Given the description of an element on the screen output the (x, y) to click on. 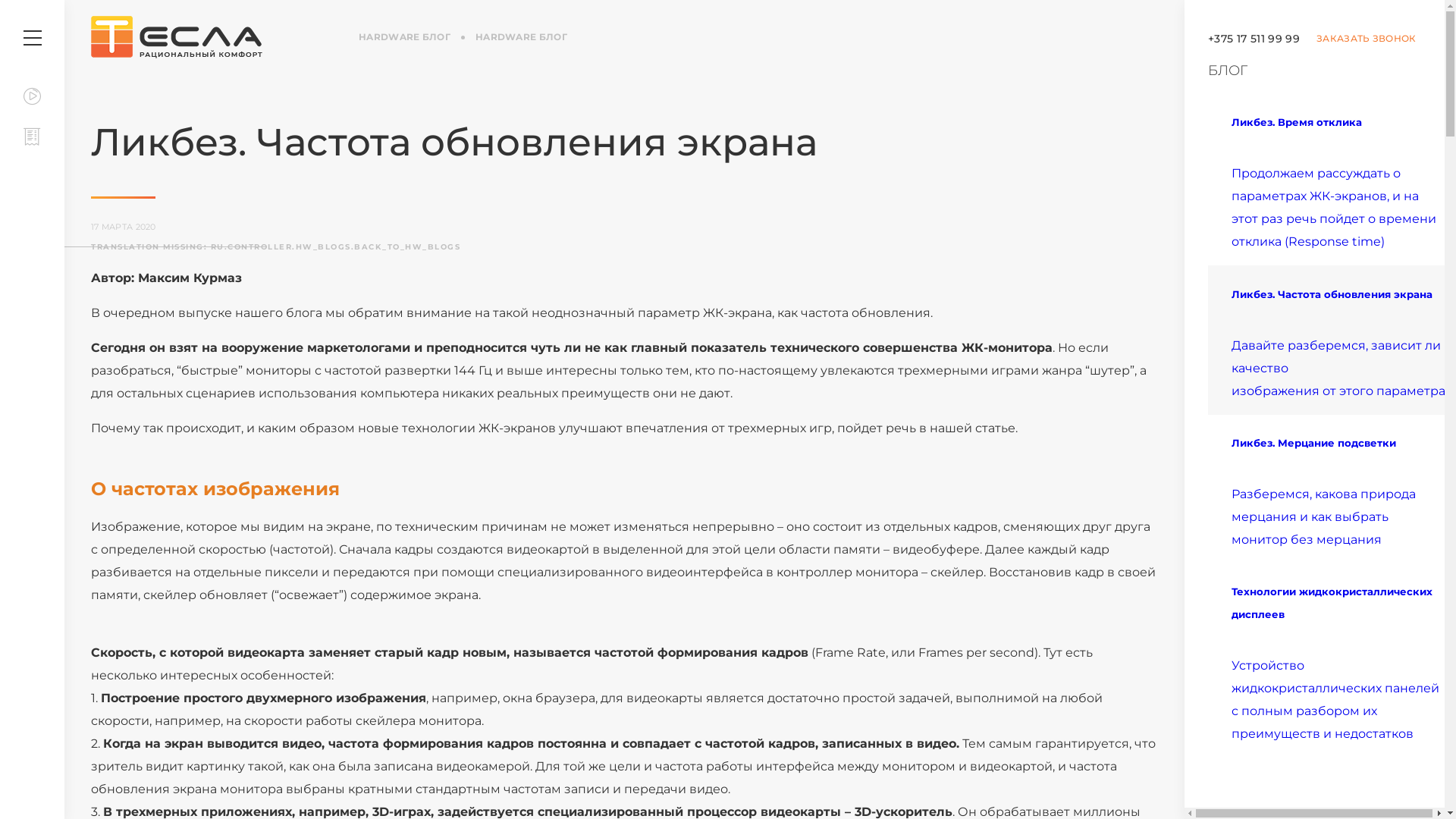
+375 17 511 99 99 Element type: text (1253, 38)
TRANSLATION MISSING: RU.CONTROLLER.HW_BLOGS.BACK_TO_HW_BLOGS Element type: text (625, 246)
